Given the description of an element on the screen output the (x, y) to click on. 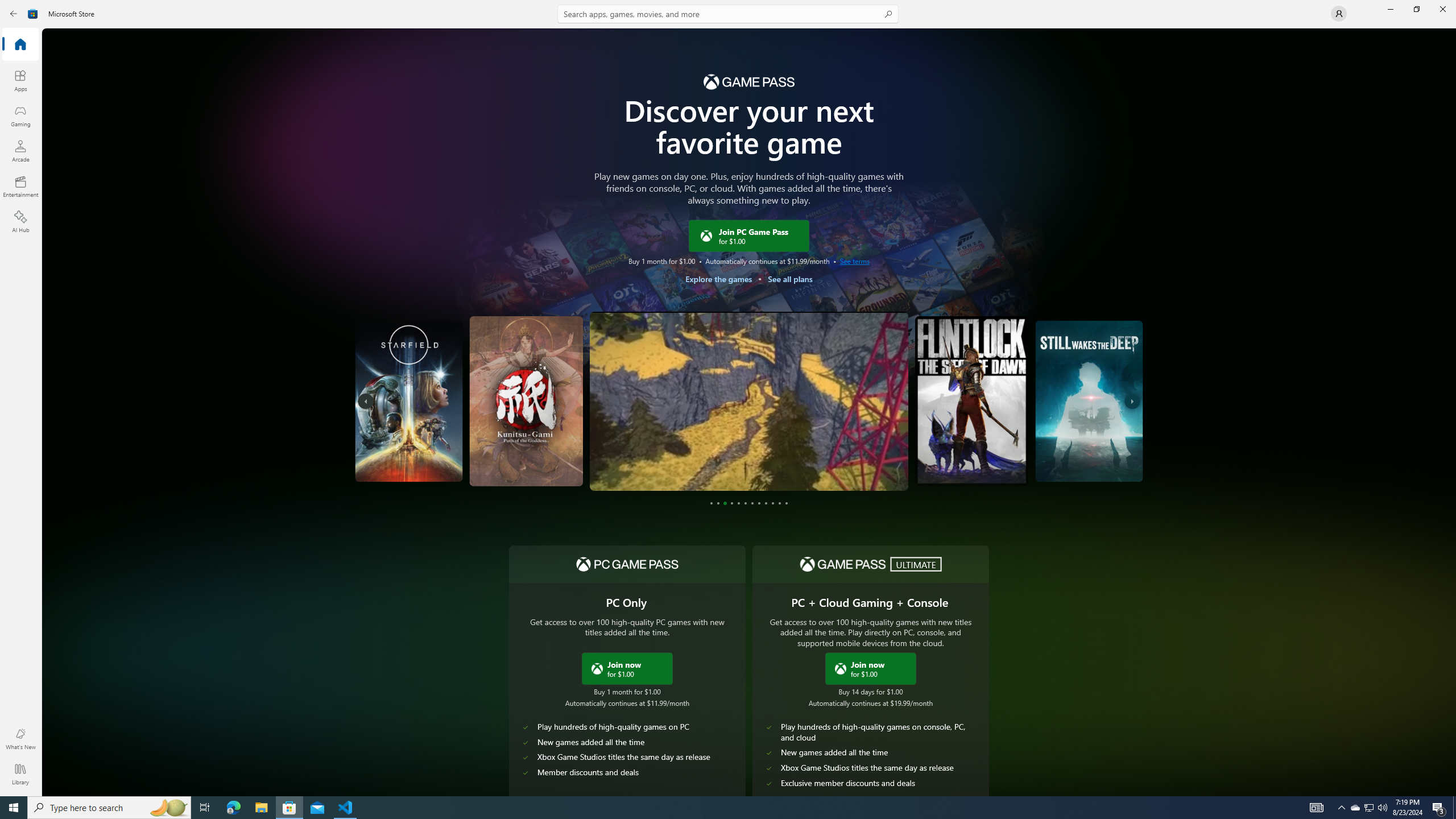
Page 12 (786, 503)
Opening Trailer (532, 462)
Flintlock: The Siege of Dawn (974, 401)
PC Game Pass logo (627, 563)
Page 1 (710, 503)
AutomationID: TrailerImage (1105, 400)
Page 5 (738, 503)
Botany Manor (391, 401)
AutomationID: GamePosterBackground (748, 286)
Search (727, 13)
Kunitsu-Gami: Path of the Goddess (523, 401)
